Given the description of an element on the screen output the (x, y) to click on. 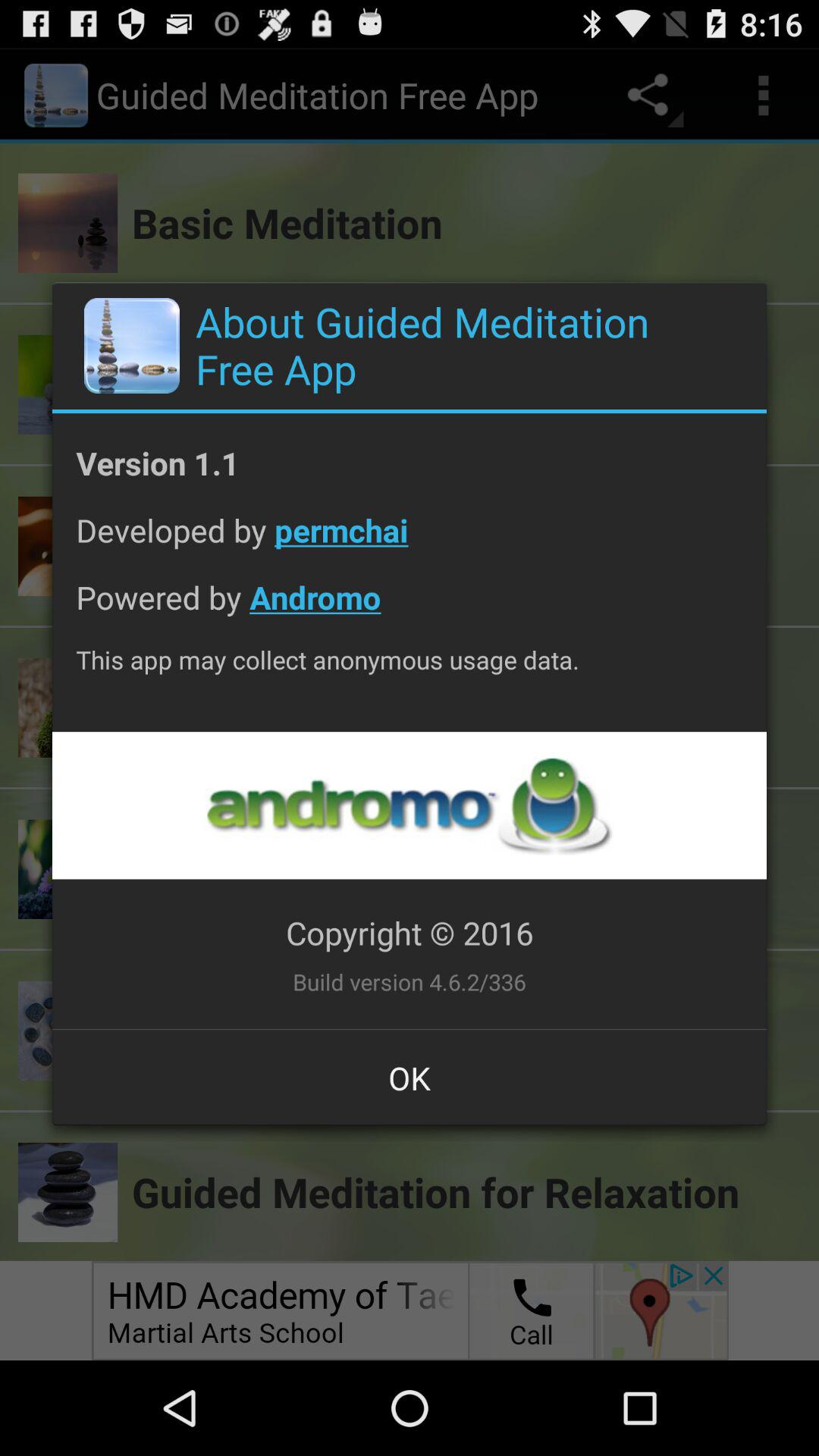
turn off the ok button (409, 1077)
